Given the description of an element on the screen output the (x, y) to click on. 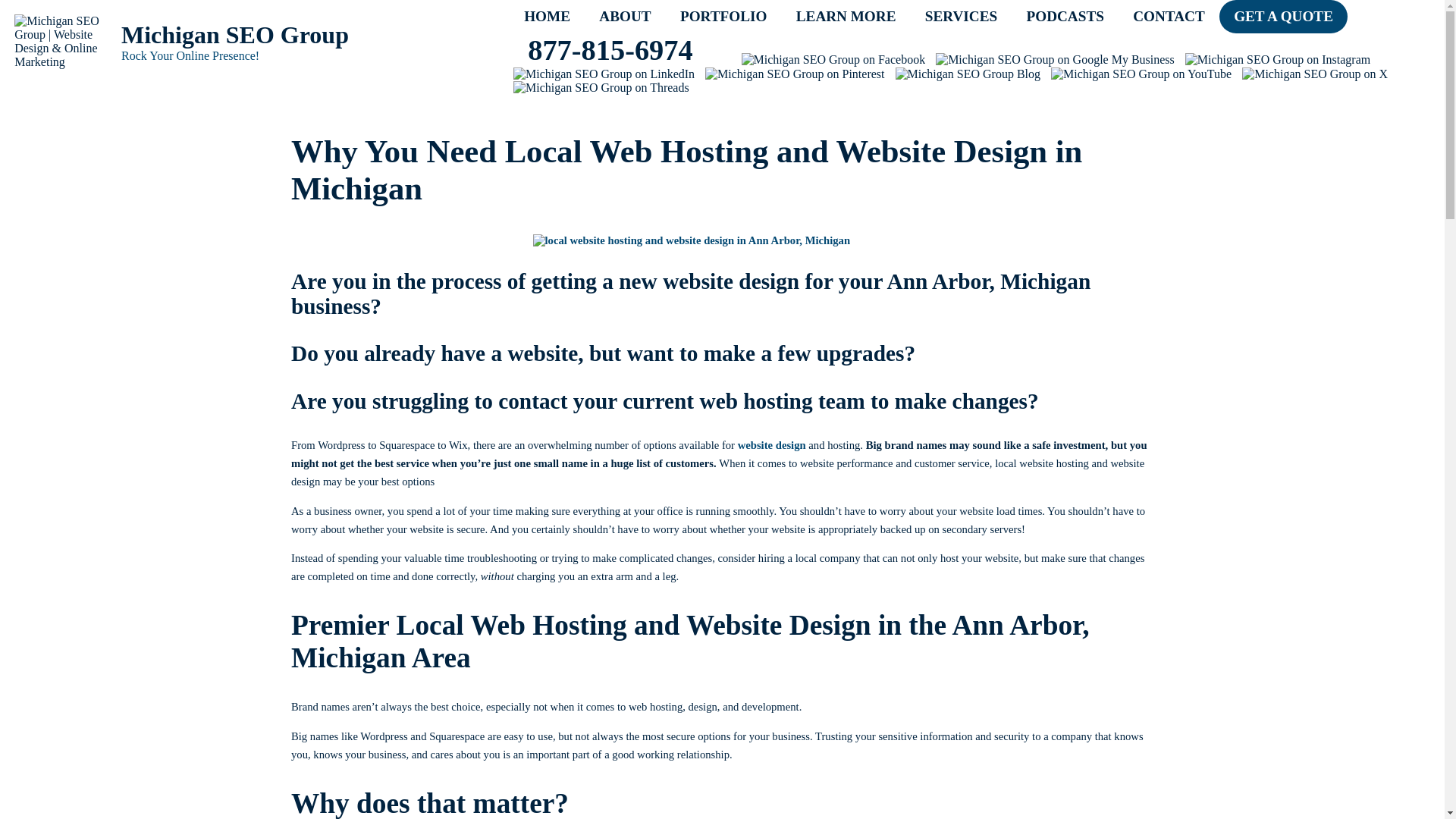
ABOUT (625, 16)
LEARN MORE (846, 16)
Michigan SEO Group (314, 35)
SERVICES (961, 16)
CONTACT (1169, 16)
GET A QUOTE (1284, 16)
website design (772, 444)
Rock Your Online Presence! (314, 56)
HOME (547, 16)
PODCASTS (1064, 16)
